Given the description of an element on the screen output the (x, y) to click on. 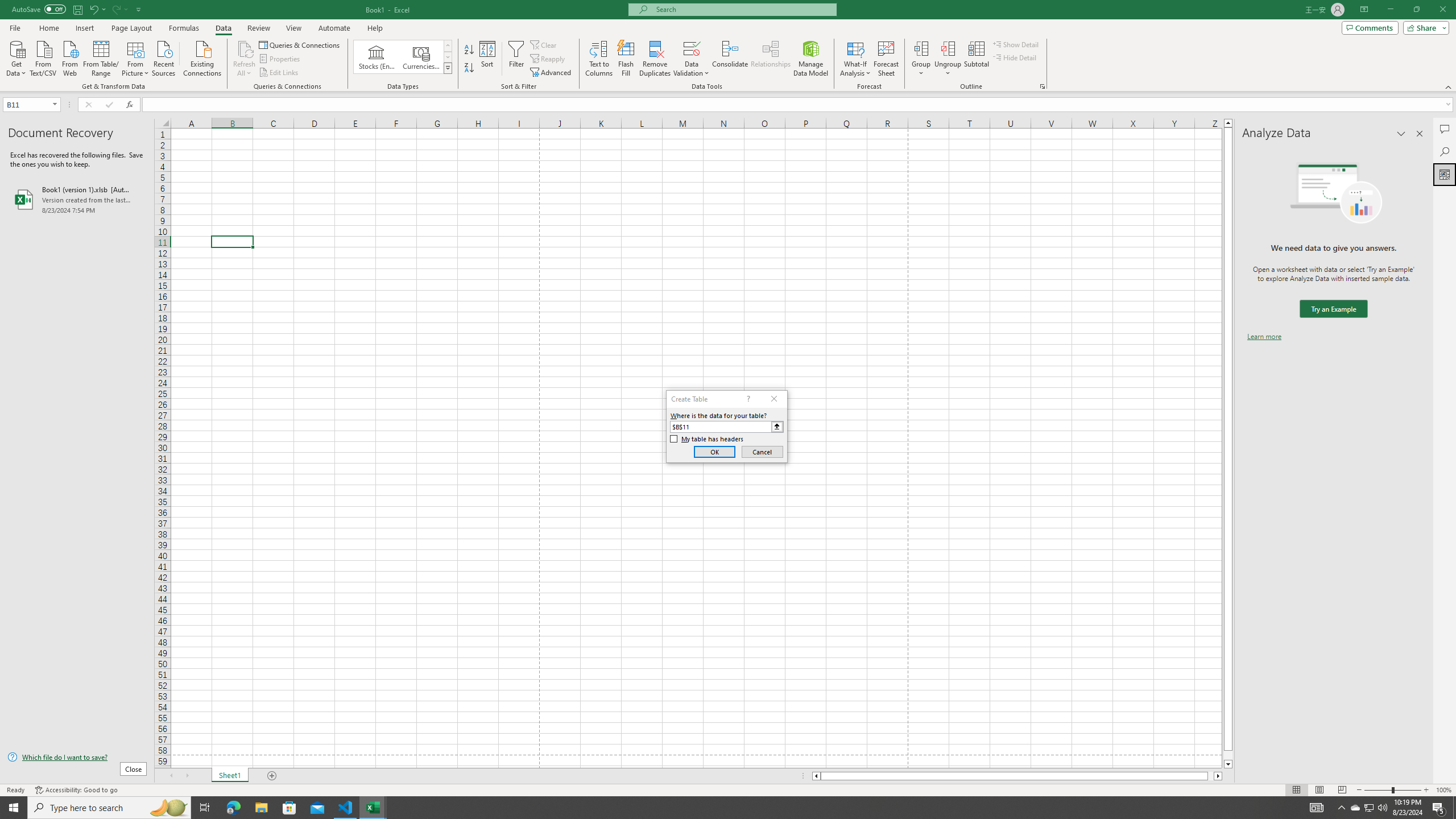
Scroll Right (187, 775)
Edit Links (279, 72)
Relationships (770, 58)
Get Data (16, 57)
Page Break Preview (1342, 790)
Properties (280, 58)
From Text/CSV (43, 57)
From Picture (135, 57)
From Web (69, 57)
Existing Connections (202, 57)
Quick Access Toolbar (77, 9)
Group... (921, 58)
